Given the description of an element on the screen output the (x, y) to click on. 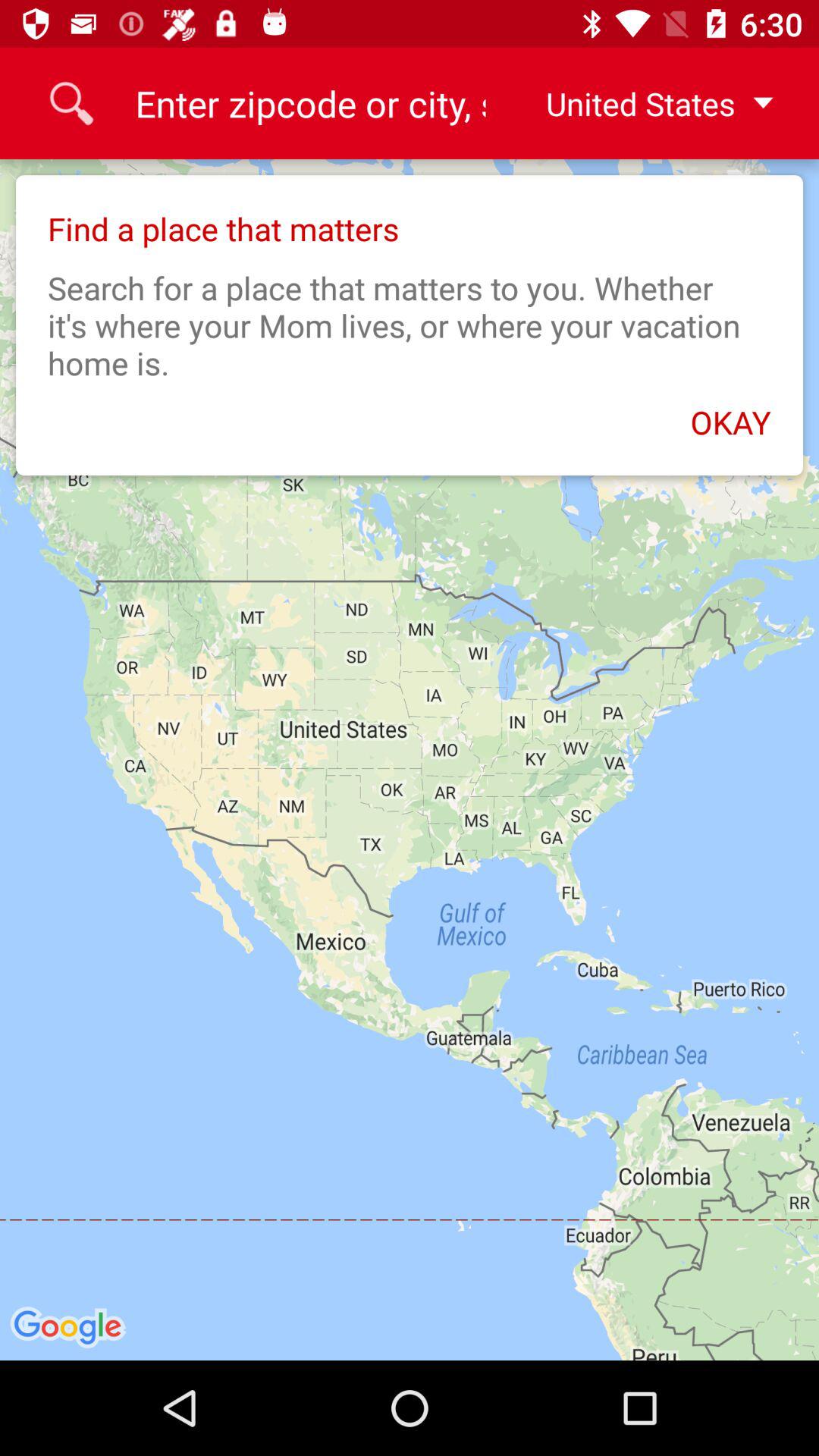
jump to united states (647, 103)
